Given the description of an element on the screen output the (x, y) to click on. 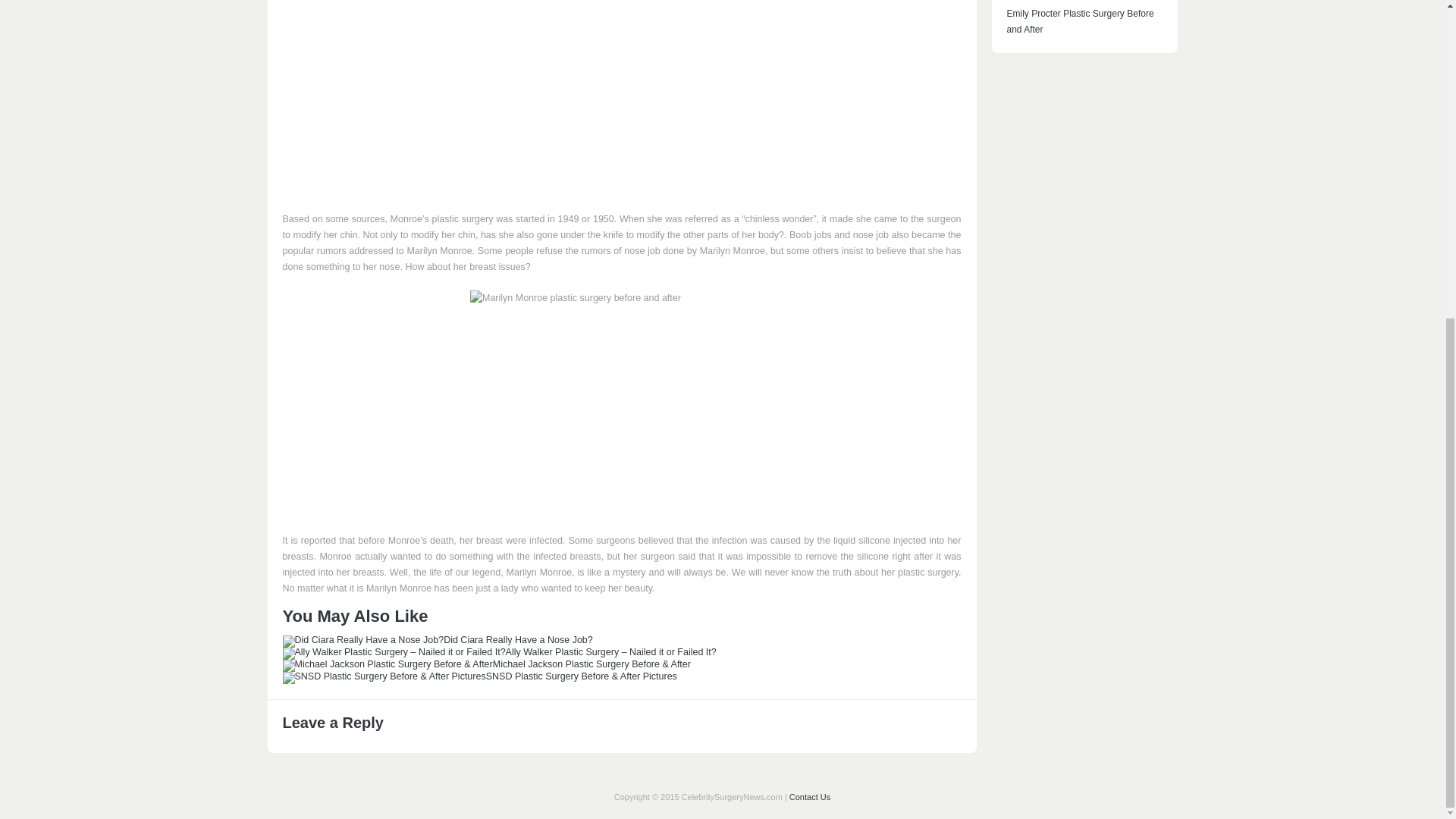
Emily Procter Plastic Surgery Before and After (1080, 21)
Did Ciara Really Have a Nose Job? (437, 639)
Contact Us (809, 796)
Did Ciara Really Have a Nose Job? (437, 639)
